Given the description of an element on the screen output the (x, y) to click on. 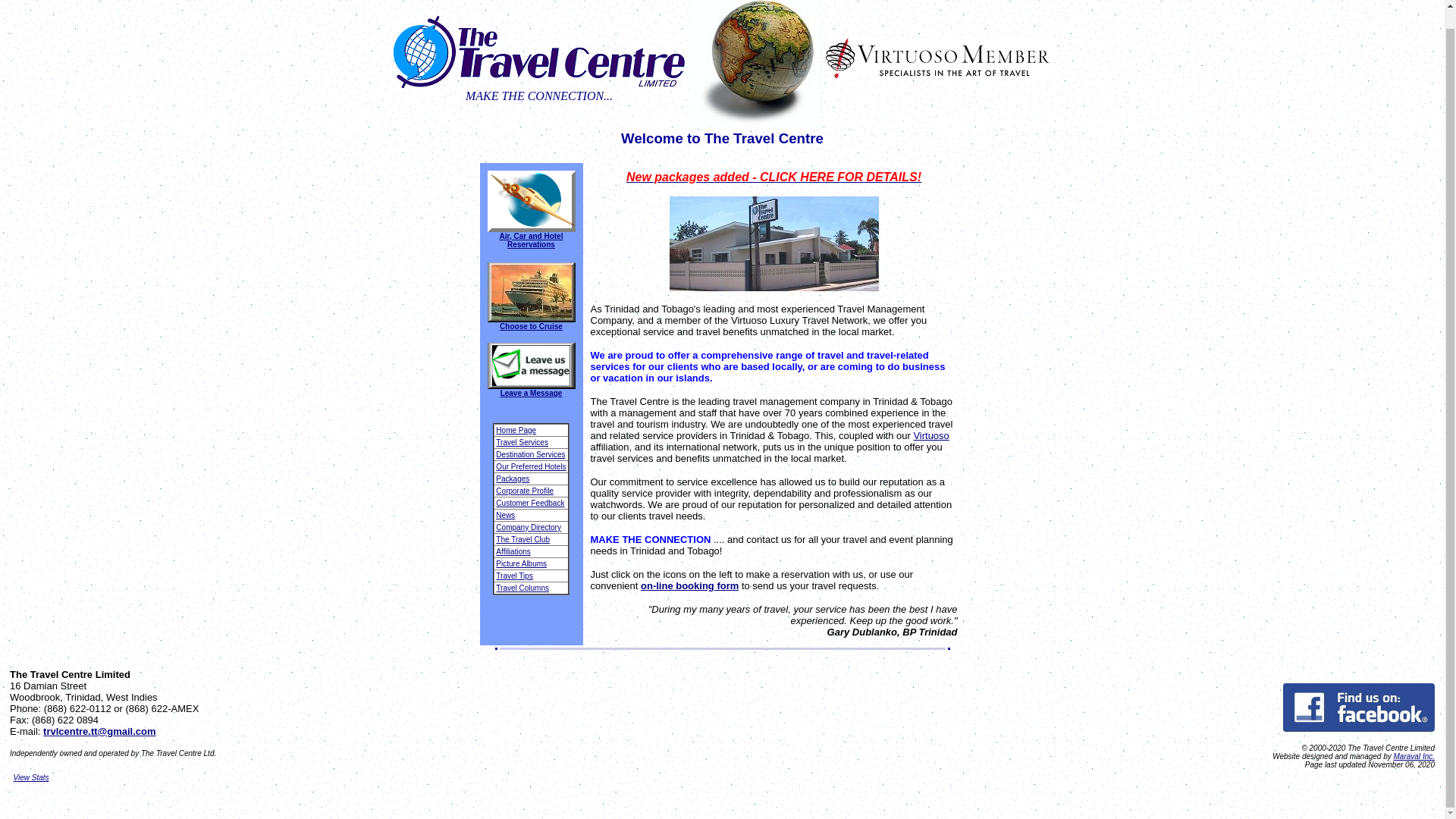
Travel Columns (522, 587)
Packages (512, 479)
Leave a Message (530, 389)
Destination Services (530, 454)
The Travel Club (523, 539)
Company Directory (528, 527)
Travel Tips (514, 575)
Home Page (515, 429)
Maraval Inc. (1413, 756)
Air, Car and Hotel Reservations (531, 239)
Our Preferred Hotels (531, 466)
Choose to Cruise (530, 321)
Picture Albums (521, 563)
on-line booking form (689, 585)
New packages added - CLICK HERE FOR DETAILS! (773, 176)
